Given the description of an element on the screen output the (x, y) to click on. 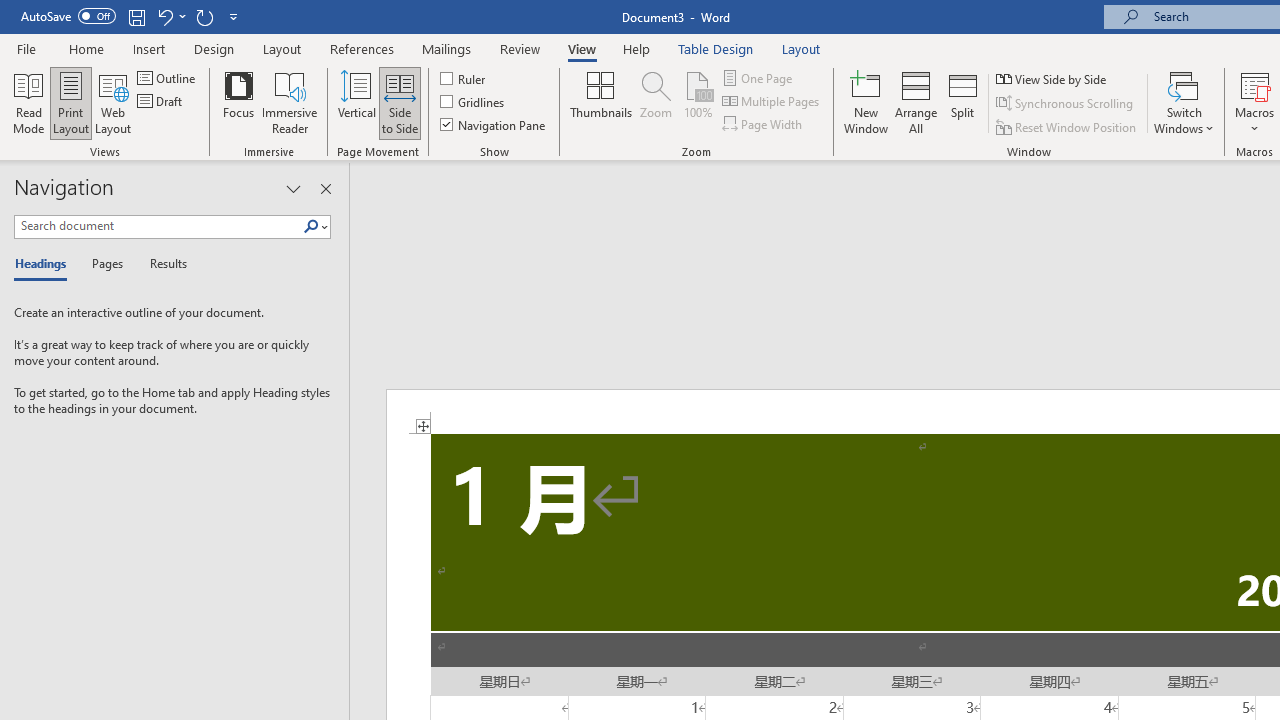
Reset Window Position (1068, 126)
Side to Side (399, 102)
Focus (238, 102)
Synchronous Scrolling (1066, 103)
Insert (149, 48)
Mailings (447, 48)
References (362, 48)
Split (963, 102)
Arrange All (916, 102)
Pages (105, 264)
Ruler (463, 78)
Repeat Doc Close (204, 15)
Navigation Pane (493, 124)
